Given the description of an element on the screen output the (x, y) to click on. 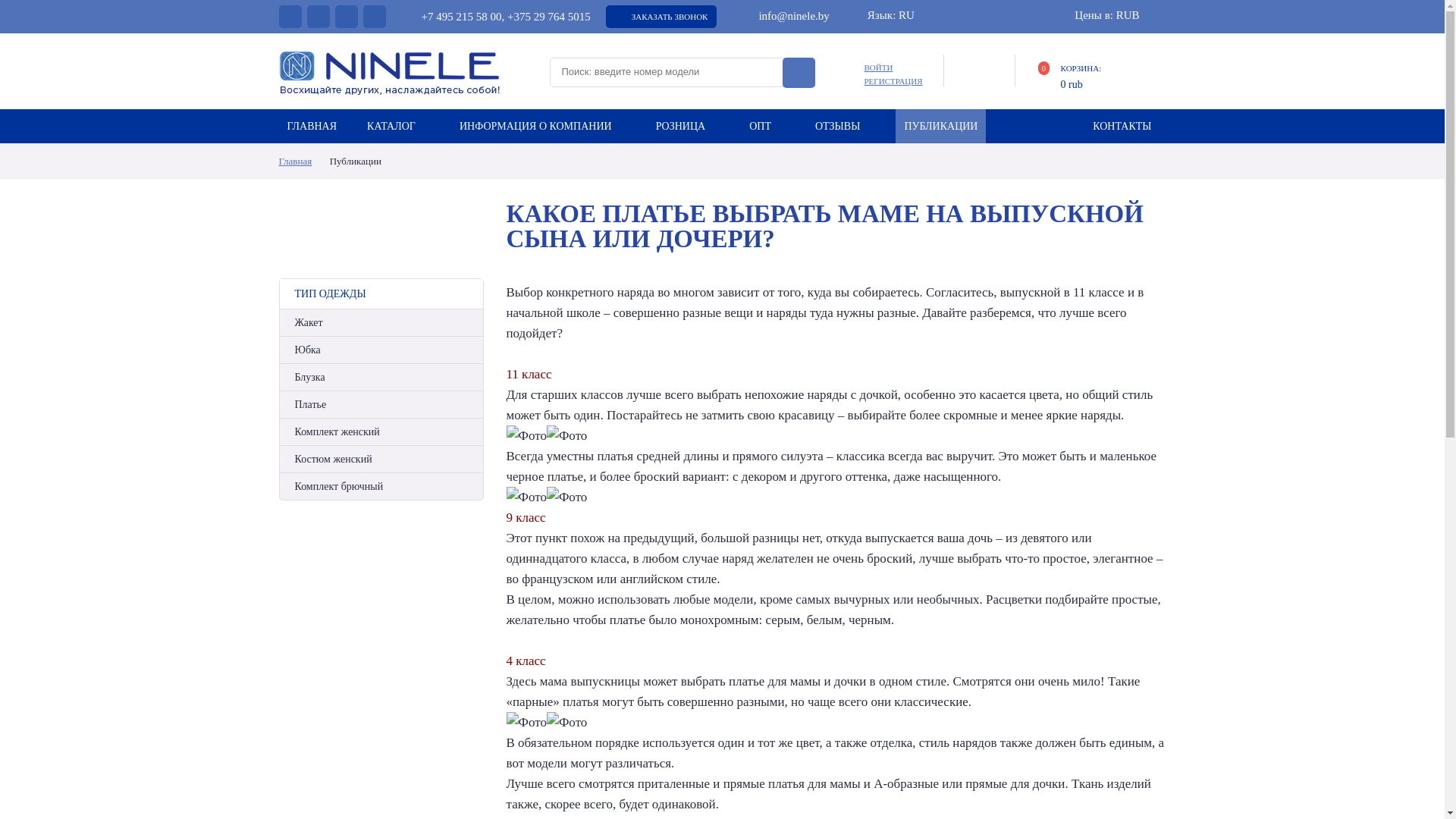
info@ninele.by Element type: text (783, 15)
